Given the description of an element on the screen output the (x, y) to click on. 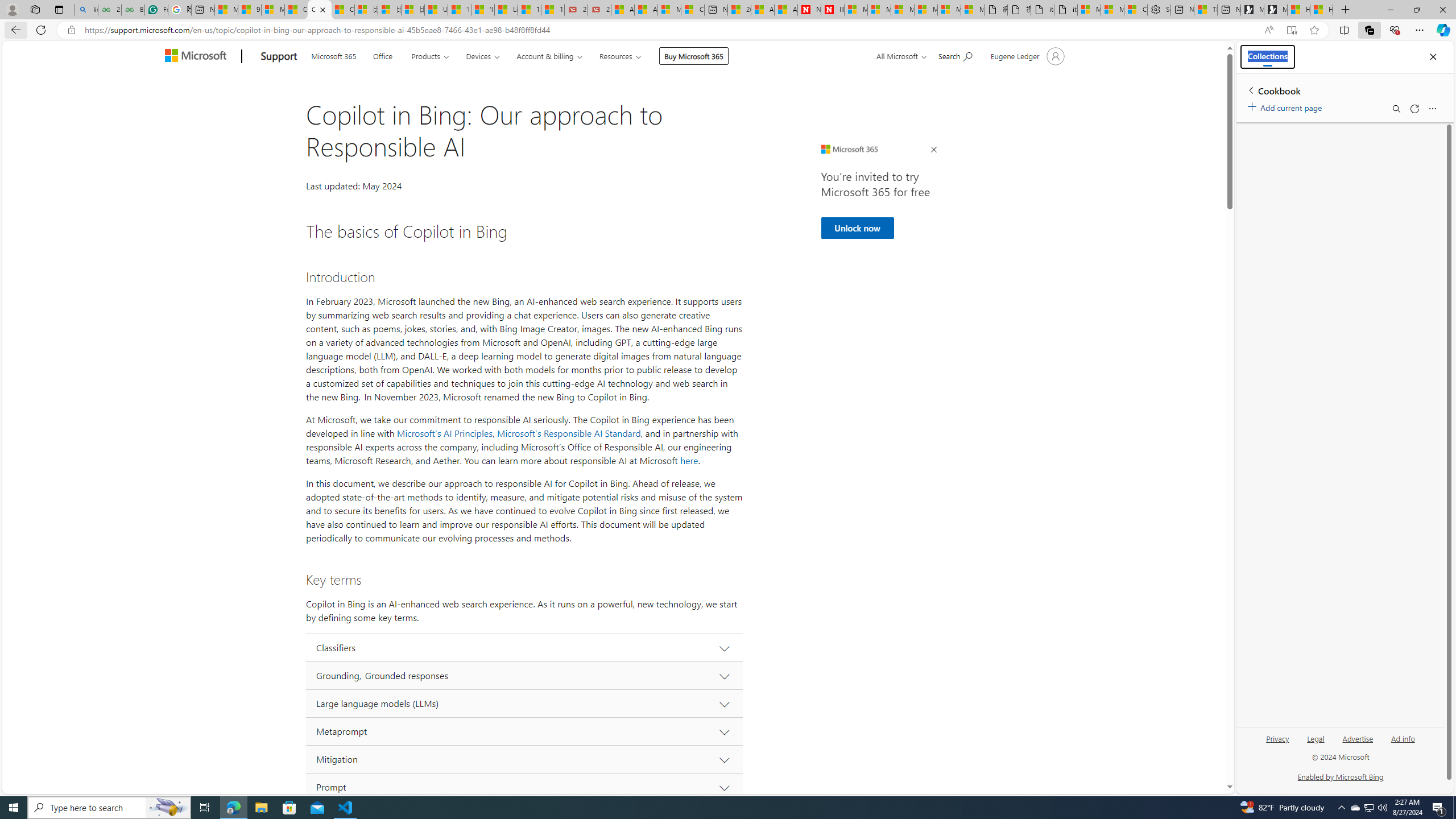
Back to list of collections (1250, 90)
Close Ad (933, 149)
Lifestyle - MSN (505, 9)
More options menu (1432, 108)
Cloud Computing Services | Microsoft Azure (692, 9)
15 Ways Modern Life Contradicts the Teachings of Jesus (552, 9)
